Given the description of an element on the screen output the (x, y) to click on. 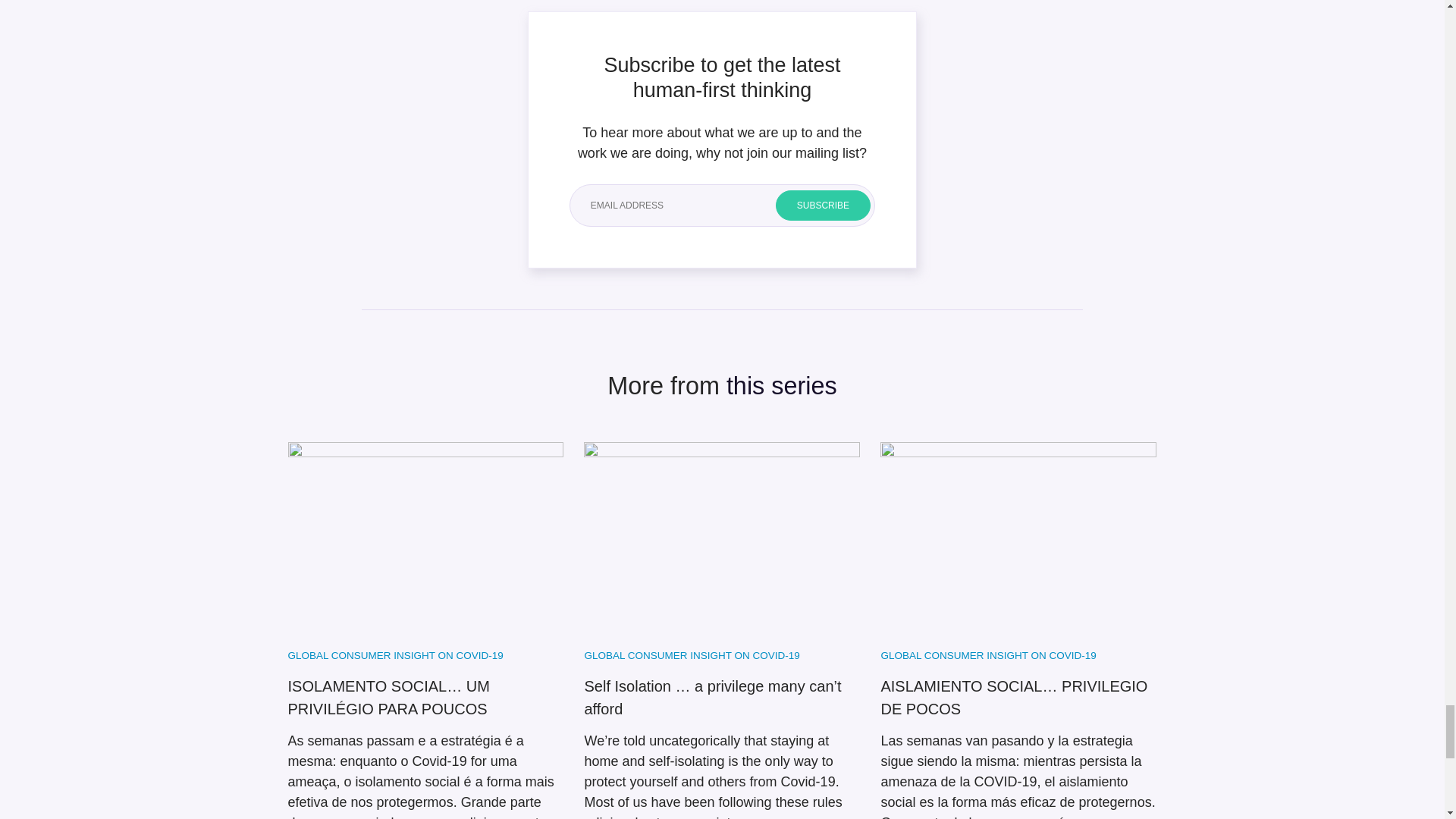
Subscribe (823, 205)
